Given the description of an element on the screen output the (x, y) to click on. 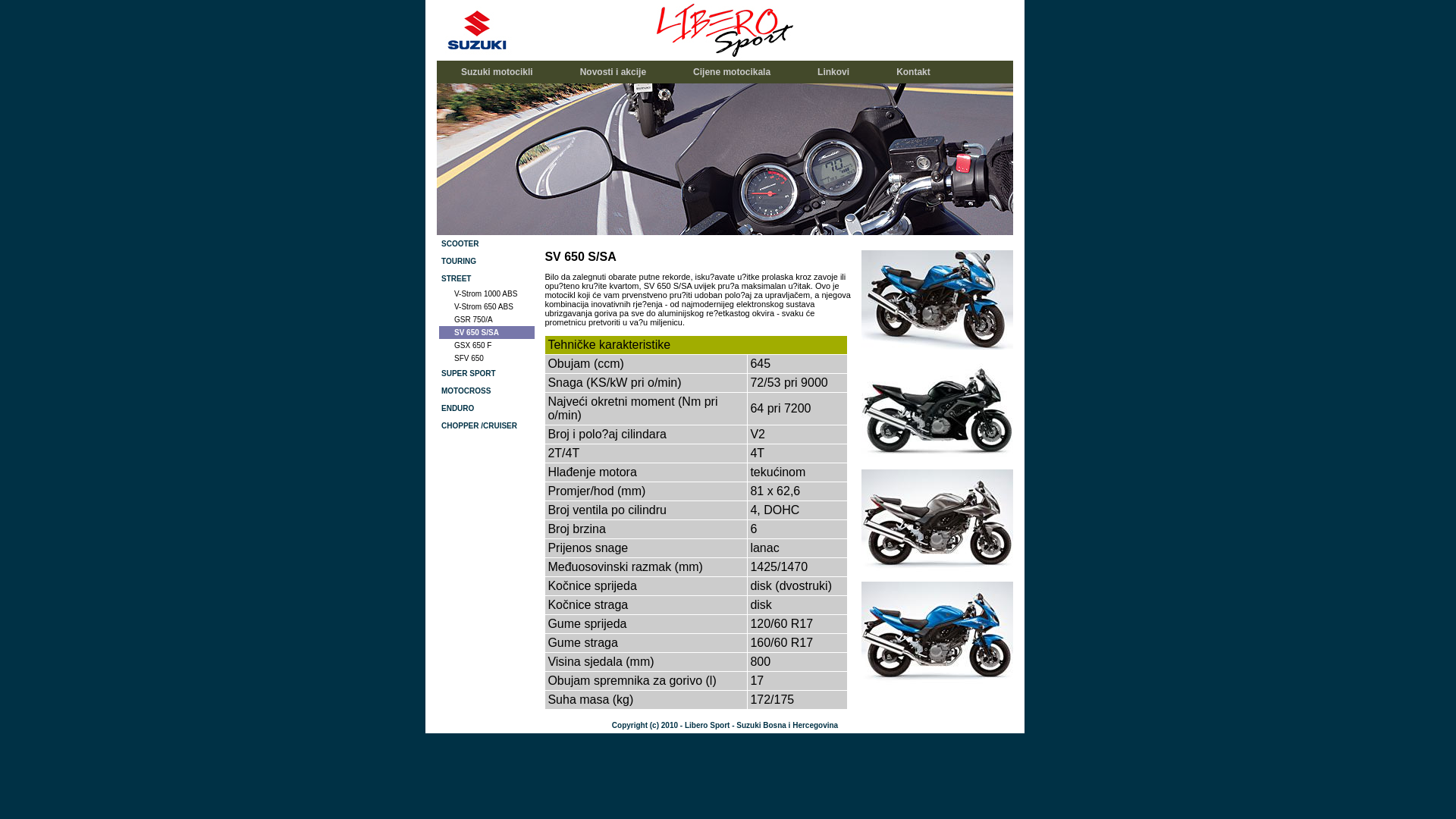
SUPER SPORT Element type: text (486, 373)
GSR 750/A Element type: text (486, 319)
STREET Element type: text (486, 278)
Kontakt Element type: text (913, 71)
V-Strom 650 ABS Element type: text (486, 306)
TOURING Element type: text (486, 260)
V-Strom 1000 ABS Element type: text (486, 293)
ENDURO Element type: text (486, 408)
Linkovi Element type: text (833, 71)
Cijene motocikala Element type: text (731, 71)
GSX 650 F Element type: text (486, 344)
SFV 650 Element type: text (486, 357)
MOTOCROSS Element type: text (486, 390)
Novosti i akcije Element type: text (613, 71)
SCOOTER Element type: text (486, 243)
CHOPPER /CRUISER Element type: text (486, 425)
SV 650 S/SA Element type: text (486, 332)
Suzuki motocikli Element type: text (497, 71)
